Given the description of an element on the screen output the (x, y) to click on. 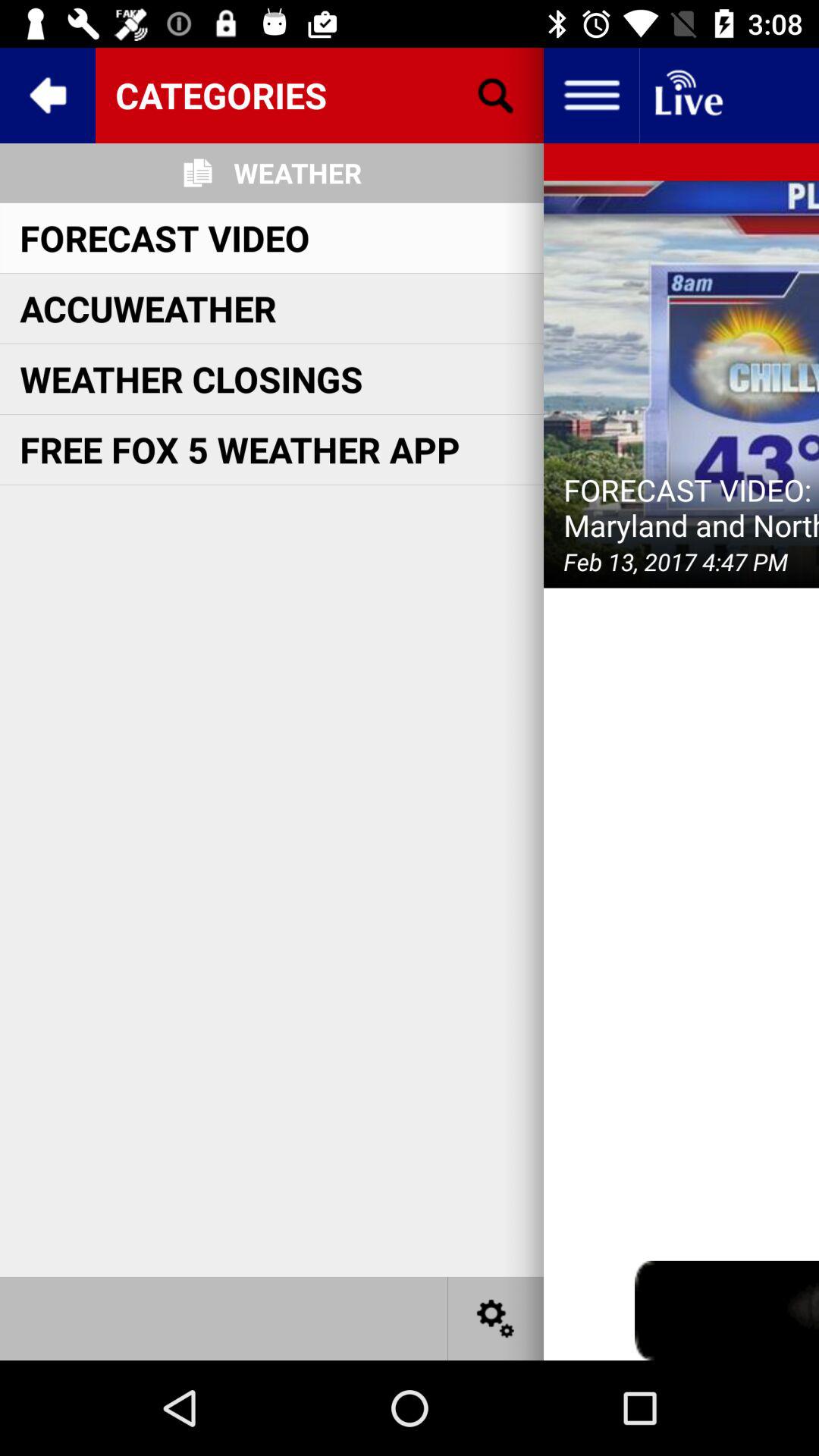
open settings (495, 1318)
